Given the description of an element on the screen output the (x, y) to click on. 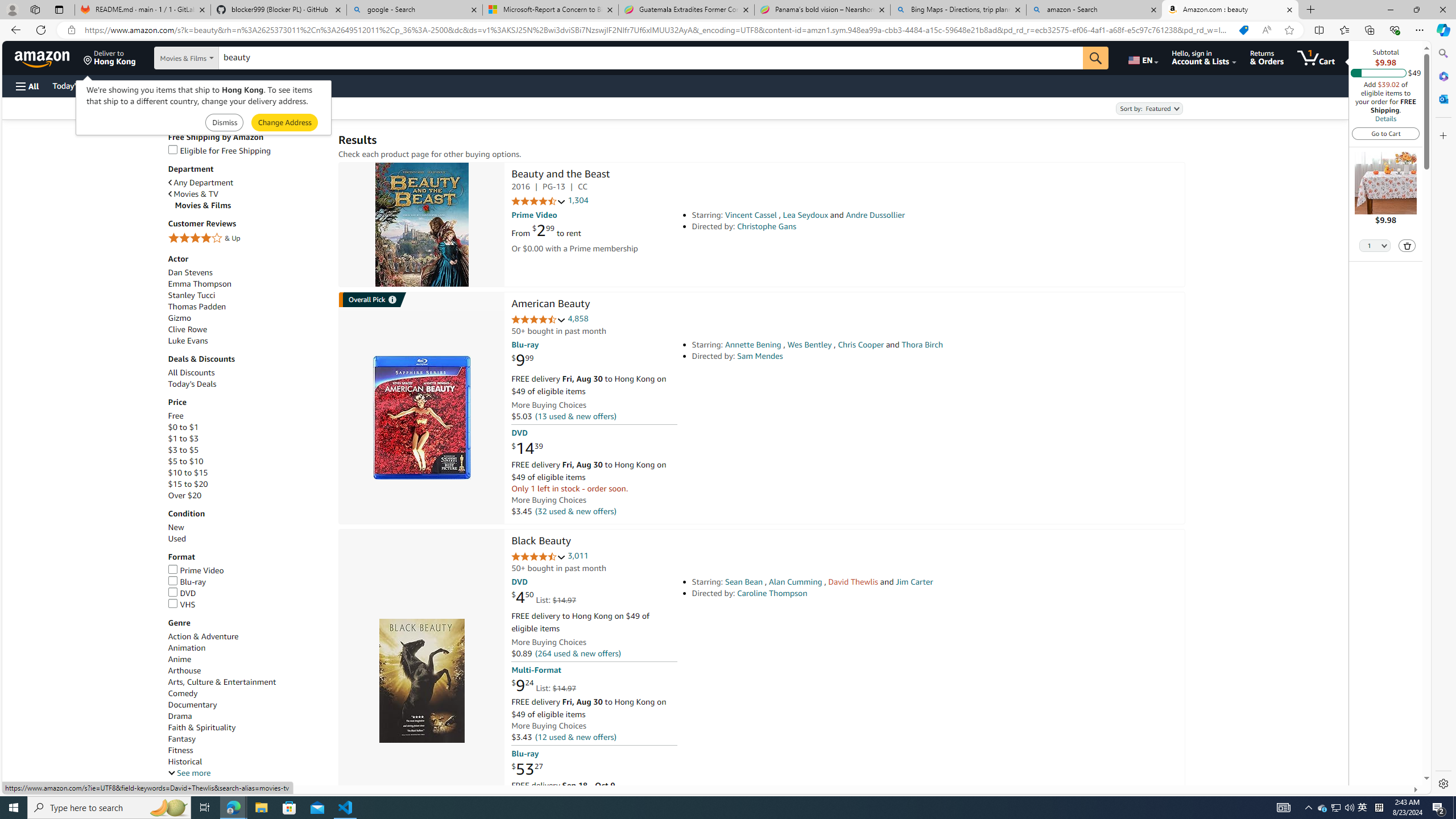
Go (1096, 57)
Today's Deals (191, 383)
All Discounts (191, 372)
Black Beauty (541, 541)
1 item in cart (1315, 57)
Choose a language for shopping. (1142, 57)
VHS (247, 604)
$5 to $10 (247, 461)
Over $20 (247, 495)
Dan Stevens (189, 272)
Black Beauty (421, 681)
